Given the description of an element on the screen output the (x, y) to click on. 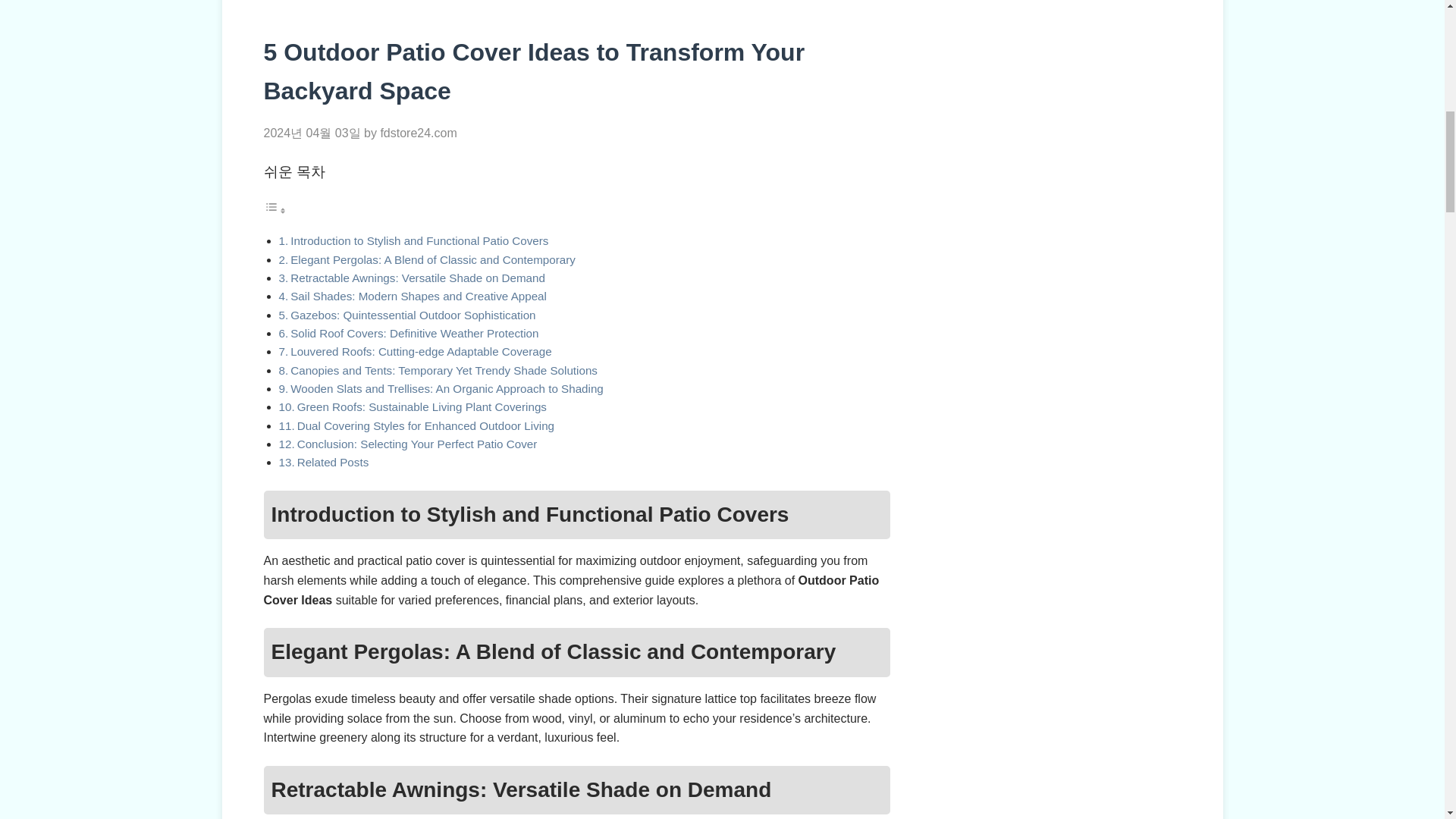
Retractable Awnings: Versatile Shade on Demand (416, 277)
fdstore24.com (418, 132)
Green Roofs: Sustainable Living Plant Coverings (422, 406)
Introduction to Stylish and Functional Patio Covers (418, 240)
View all posts by fdstore24.com (418, 132)
Introduction to Stylish and Functional Patio Covers (418, 240)
Sail Shades: Modern Shapes and Creative Appeal (418, 295)
Canopies and Tents: Temporary Yet Trendy Shade Solutions (442, 369)
Retractable Awnings: Versatile Shade on Demand (416, 277)
Canopies and Tents: Temporary Yet Trendy Shade Solutions (442, 369)
Louvered Roofs: Cutting-edge Adaptable Coverage (420, 350)
Wooden Slats and Trellises: An Organic Approach to Shading (446, 388)
Conclusion: Selecting Your Perfect Patio Cover (417, 443)
Gazebos: Quintessential Outdoor Sophistication (412, 314)
Dual Covering Styles for Enhanced Outdoor Living (425, 425)
